Given the description of an element on the screen output the (x, y) to click on. 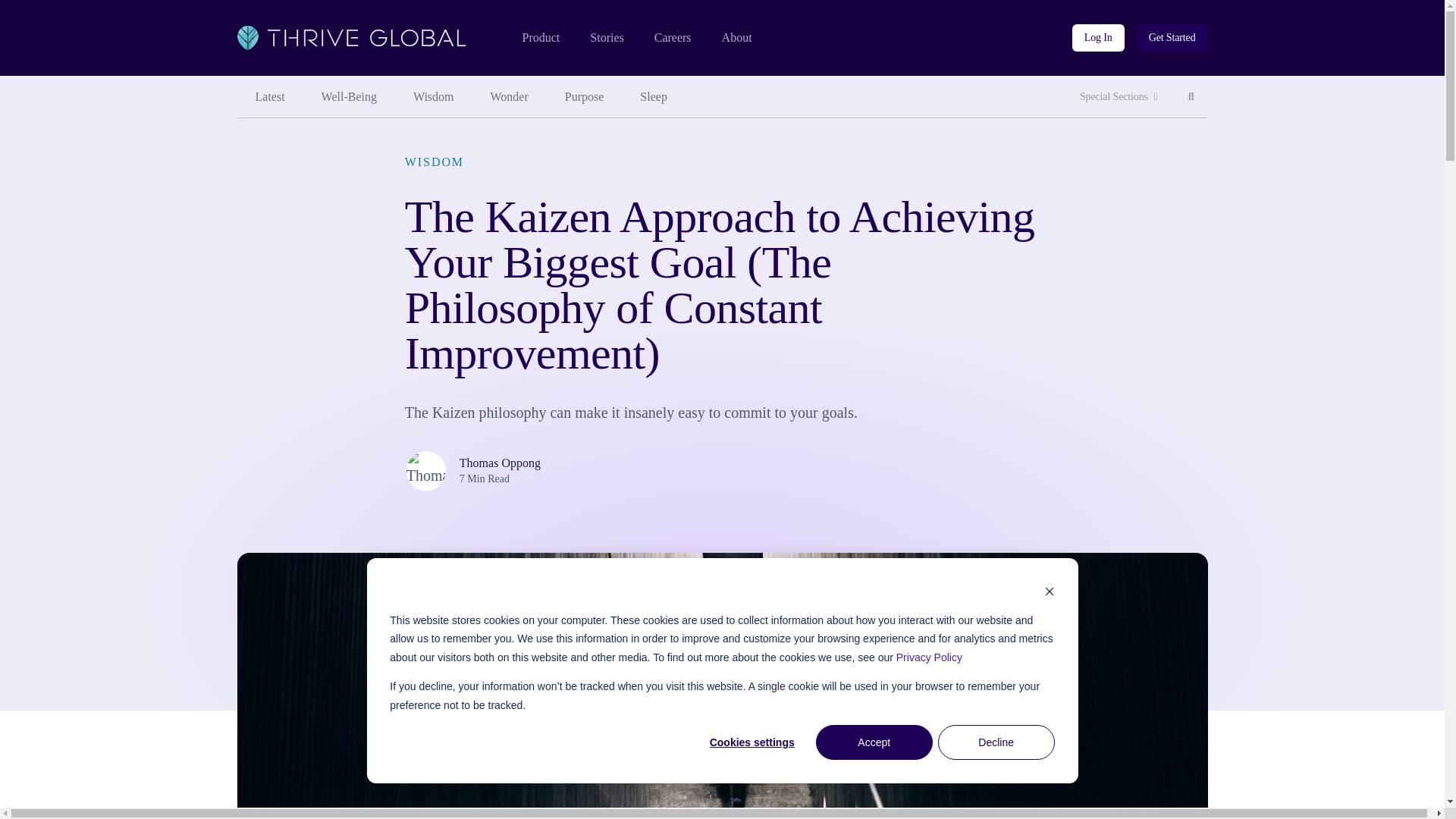
Well-Being (348, 96)
Stories (606, 37)
Sleep (653, 96)
Special Sections (1118, 97)
Careers (1191, 97)
Wonder (672, 37)
Log In (509, 96)
Product (1097, 37)
Purpose (540, 37)
